Given the description of an element on the screen output the (x, y) to click on. 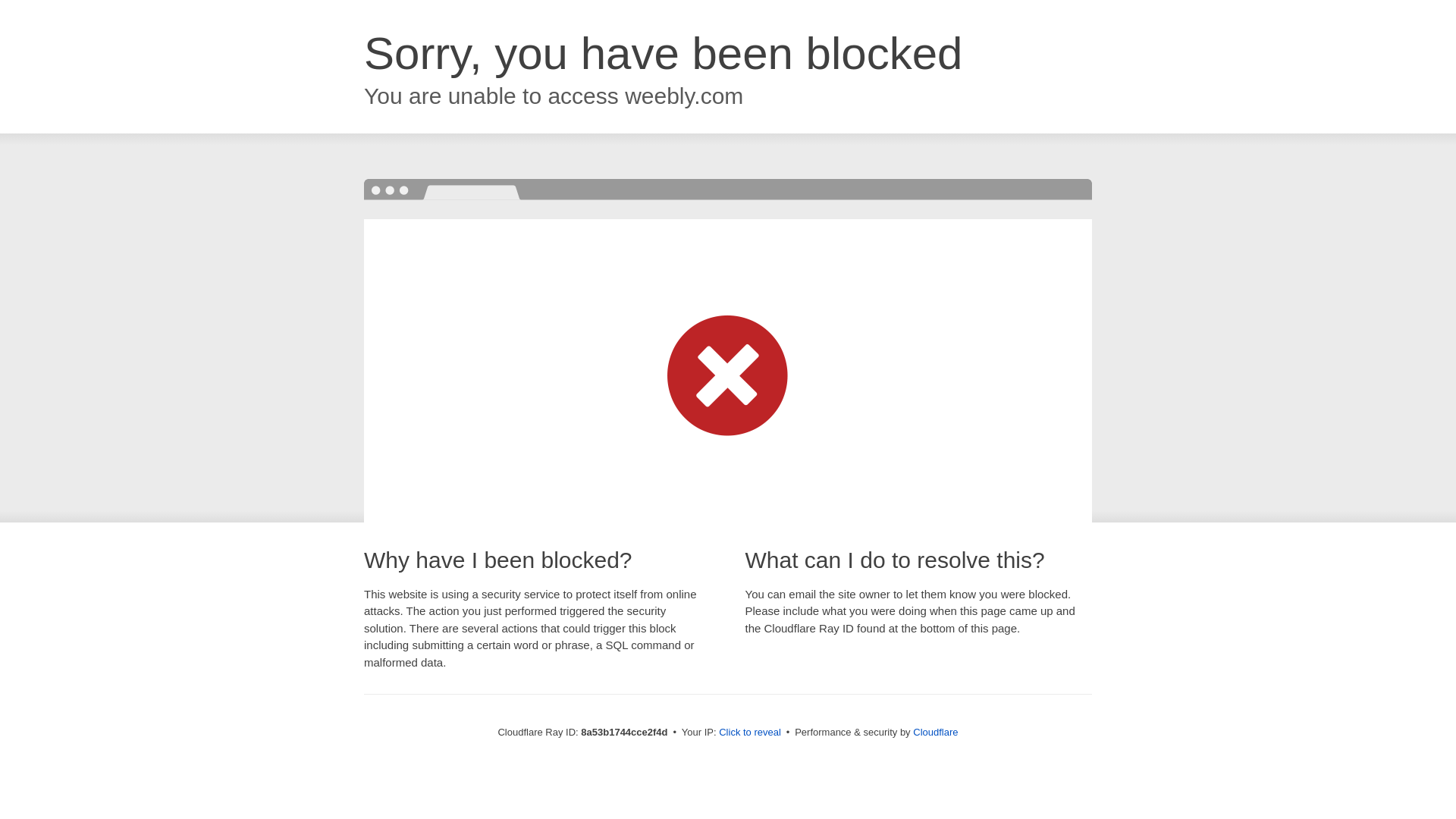
Click to reveal (749, 732)
Cloudflare (935, 731)
